Given the description of an element on the screen output the (x, y) to click on. 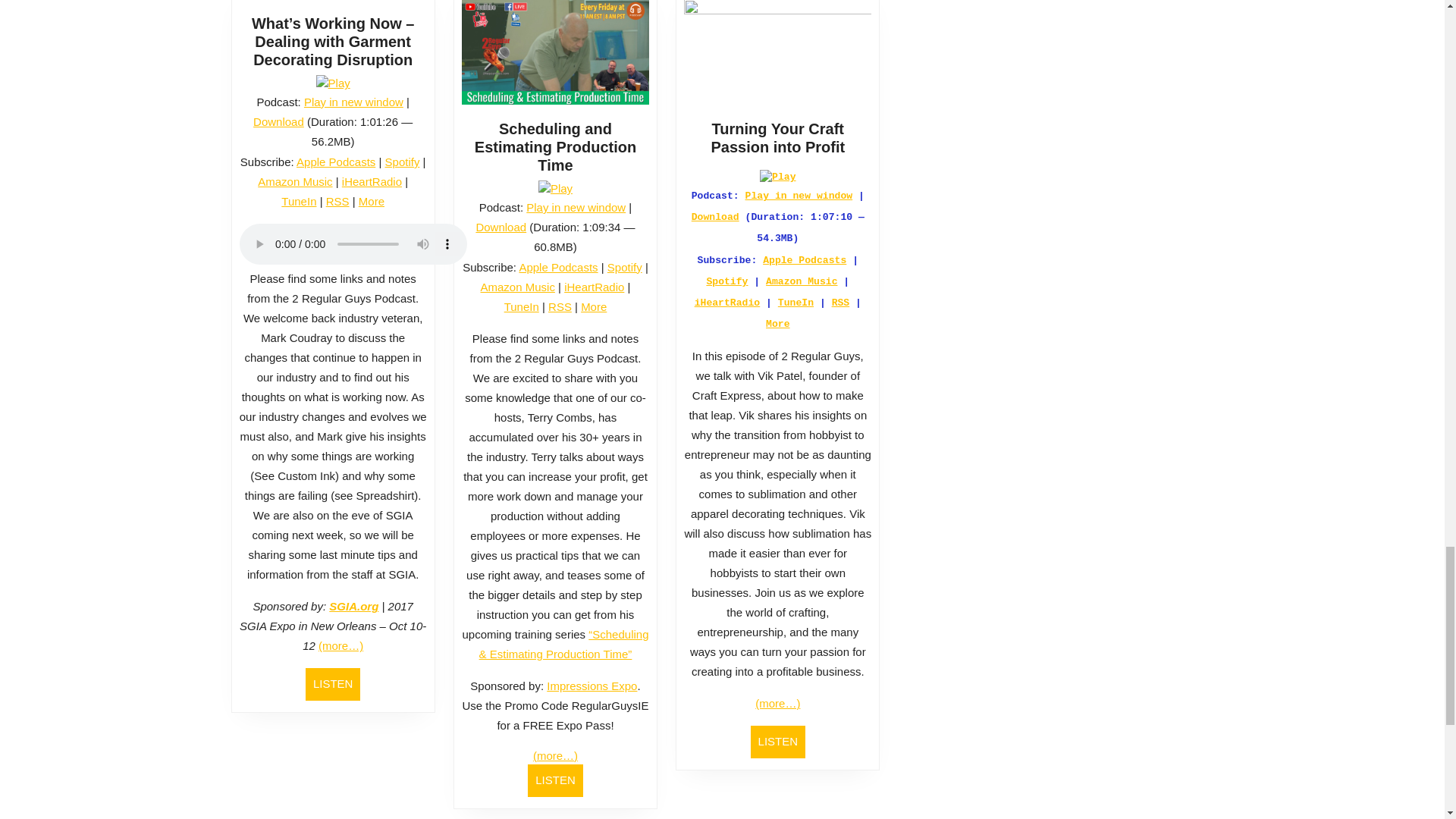
Download (500, 226)
Subscribe on Apple Podcasts (557, 267)
Play in new window (575, 206)
Subscribe on Spotify (402, 161)
Subscribe on Apple Podcasts (336, 161)
Subscribe via RSS (337, 201)
Subscribe on TuneIn (298, 201)
Subscribe on iHeartRadio (371, 181)
Play (332, 82)
Play in new window (353, 101)
